Given the description of an element on the screen output the (x, y) to click on. 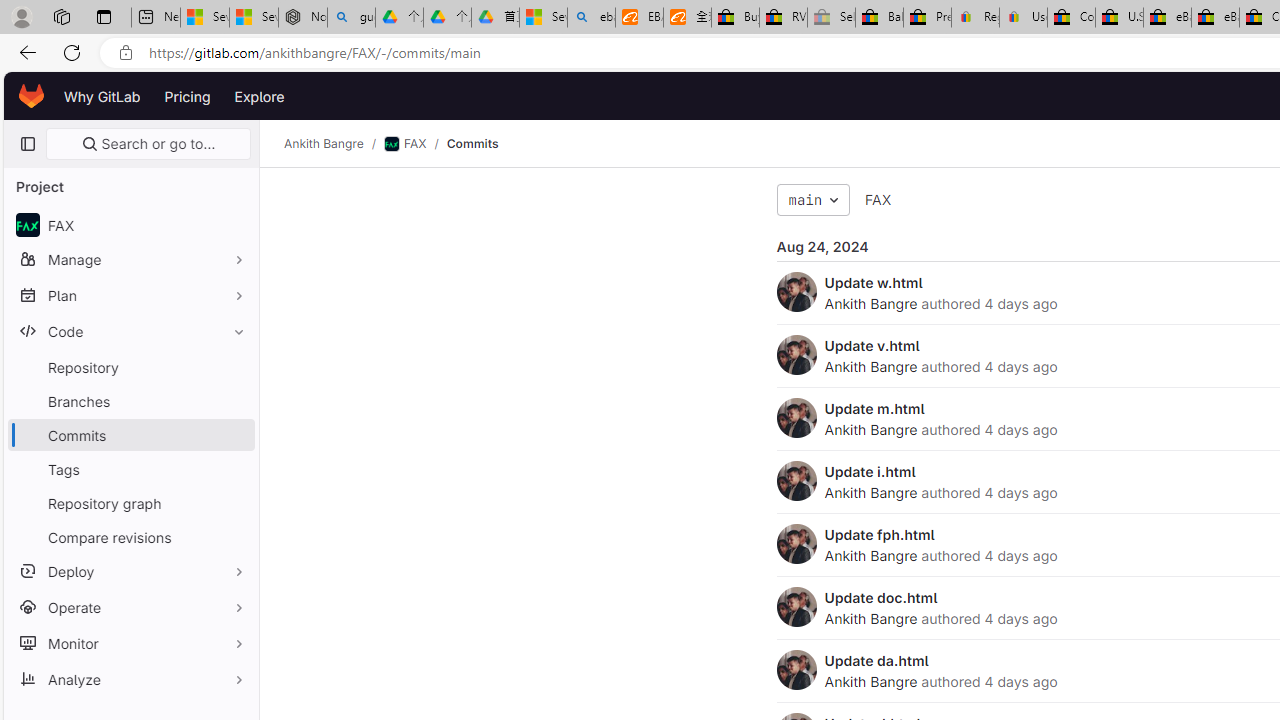
Compare revisions (130, 536)
Tags (130, 468)
Explore (259, 95)
Update i.html (870, 471)
Ankith Bangre's avatar (795, 669)
Monitor (130, 642)
Ankith Bangre/ (334, 143)
avatar FAX (130, 224)
Deploy (130, 570)
Manage (130, 259)
ebay - Search (591, 17)
